Given the description of an element on the screen output the (x, y) to click on. 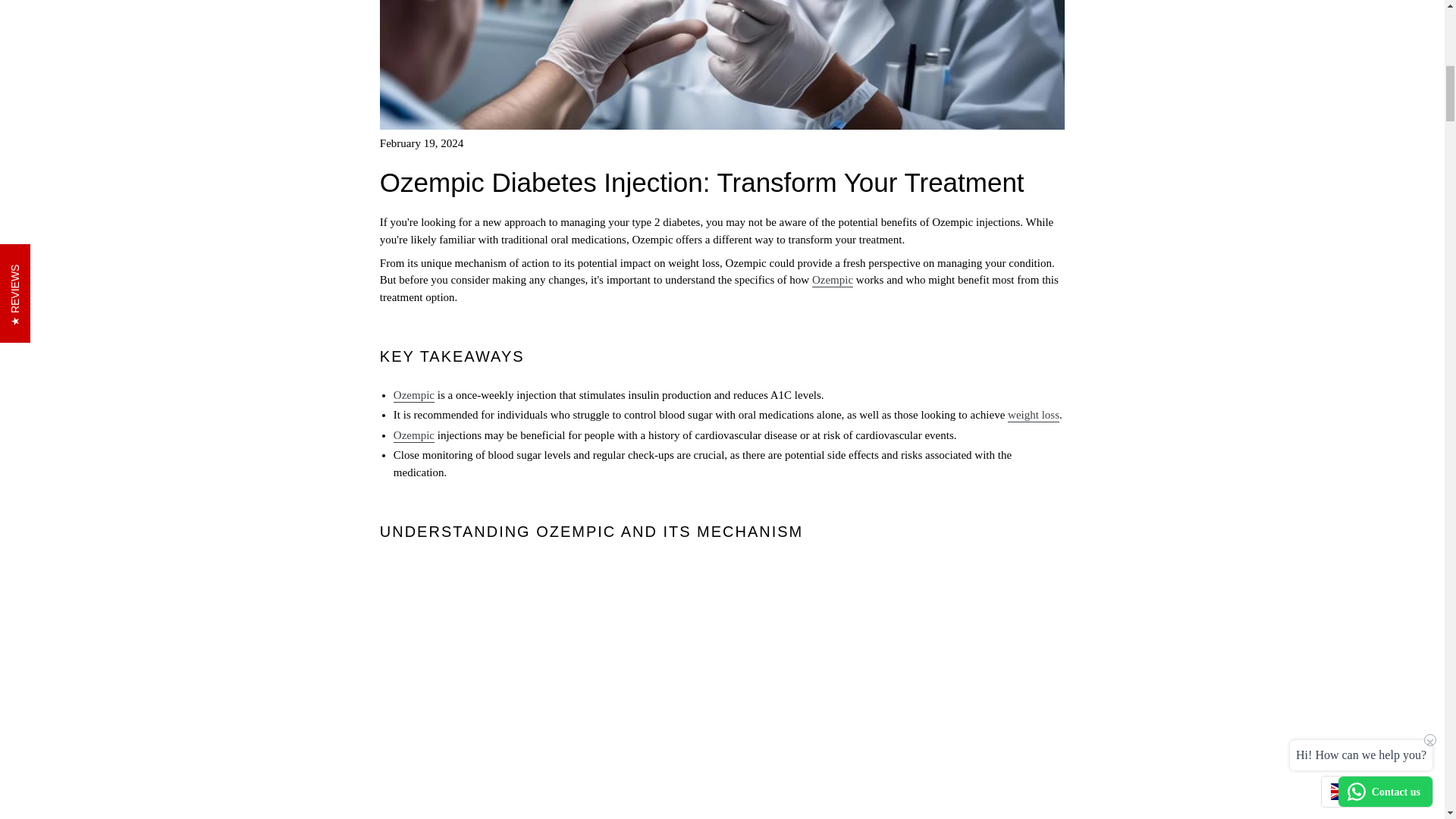
Ozempic (832, 280)
Ozempic (413, 436)
weight loss (1033, 415)
Ozempic (413, 395)
